Given the description of an element on the screen output the (x, y) to click on. 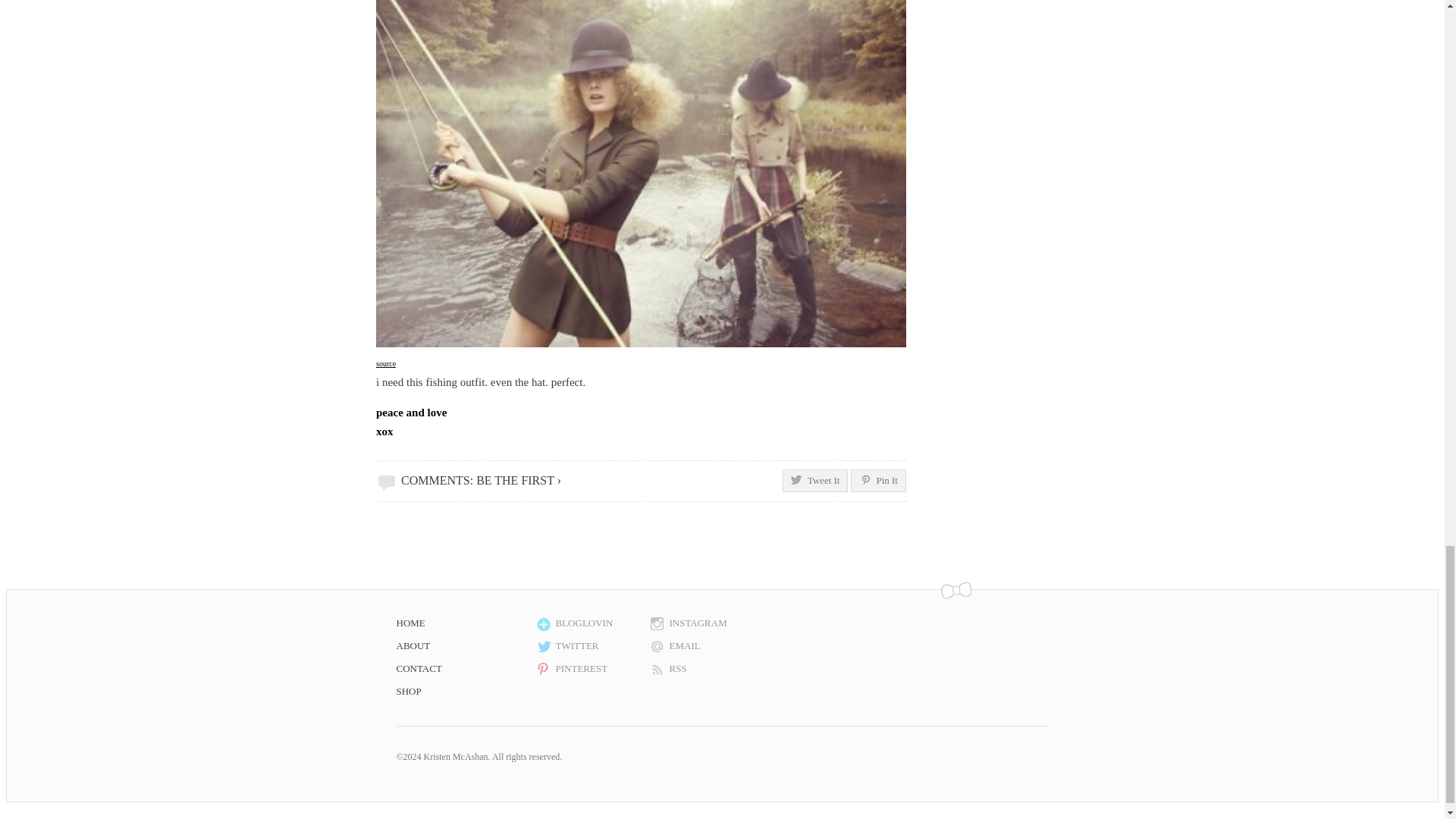
EMAIL (703, 645)
INSTAGRAM (703, 622)
RSS (703, 668)
TWITTER (589, 645)
HOME (464, 622)
SHOP (464, 691)
Pin It (877, 480)
source (385, 362)
Tweet It (815, 480)
CONTACT (464, 668)
